Given the description of an element on the screen output the (x, y) to click on. 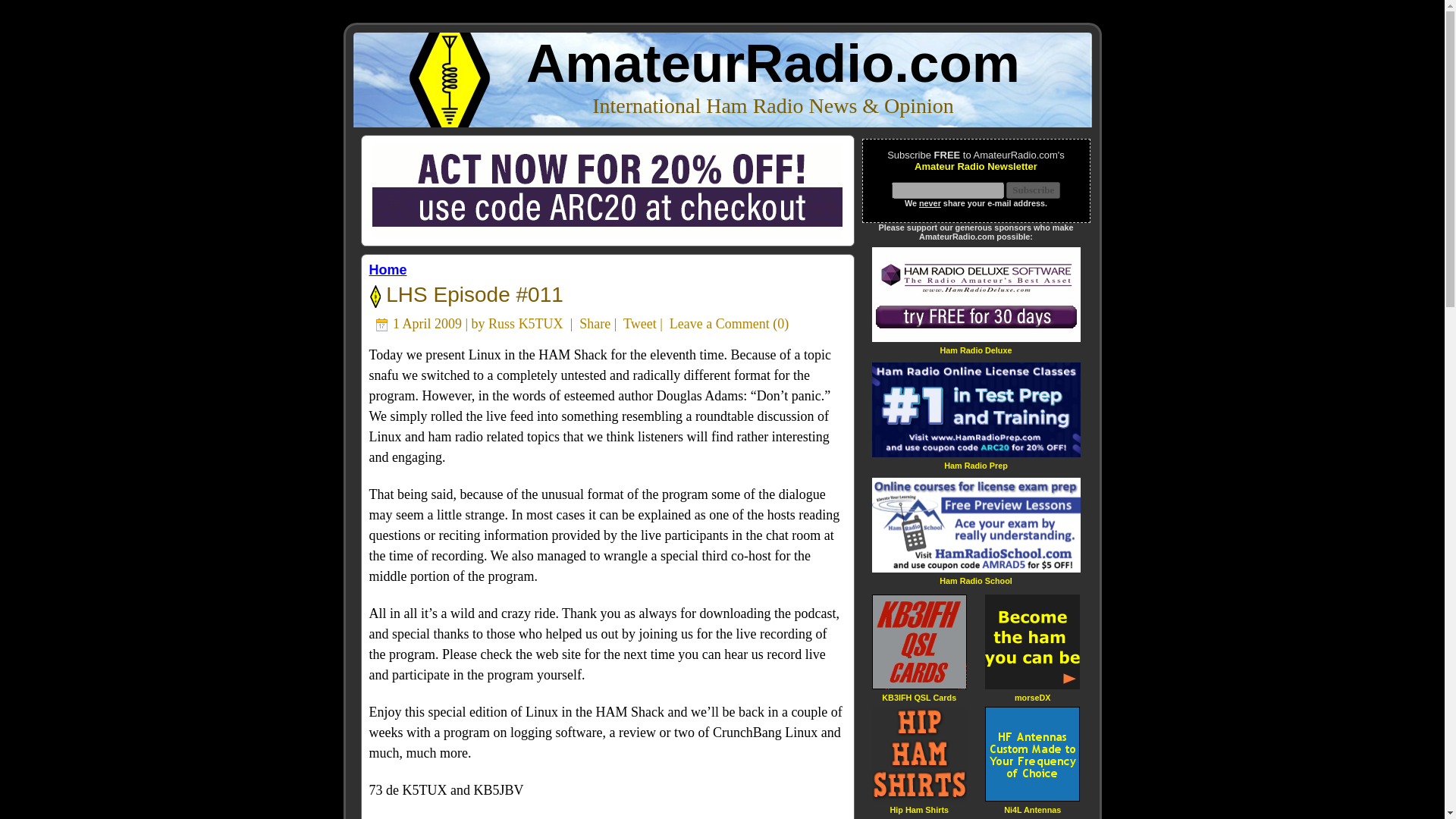
Home (387, 269)
Hip Ham Shirts (919, 808)
Leave a Comment (719, 323)
Russ K5TUX (525, 323)
Subscribe (1032, 190)
AmateurRadio.com (772, 63)
Ham Radio Prep (975, 464)
Ham Radio School (975, 580)
KB3IFH QSL Cards (919, 696)
Tweet (639, 323)
Subscribe (1032, 190)
Ham Radio Deluxe (975, 349)
Share (594, 323)
